Given the description of an element on the screen output the (x, y) to click on. 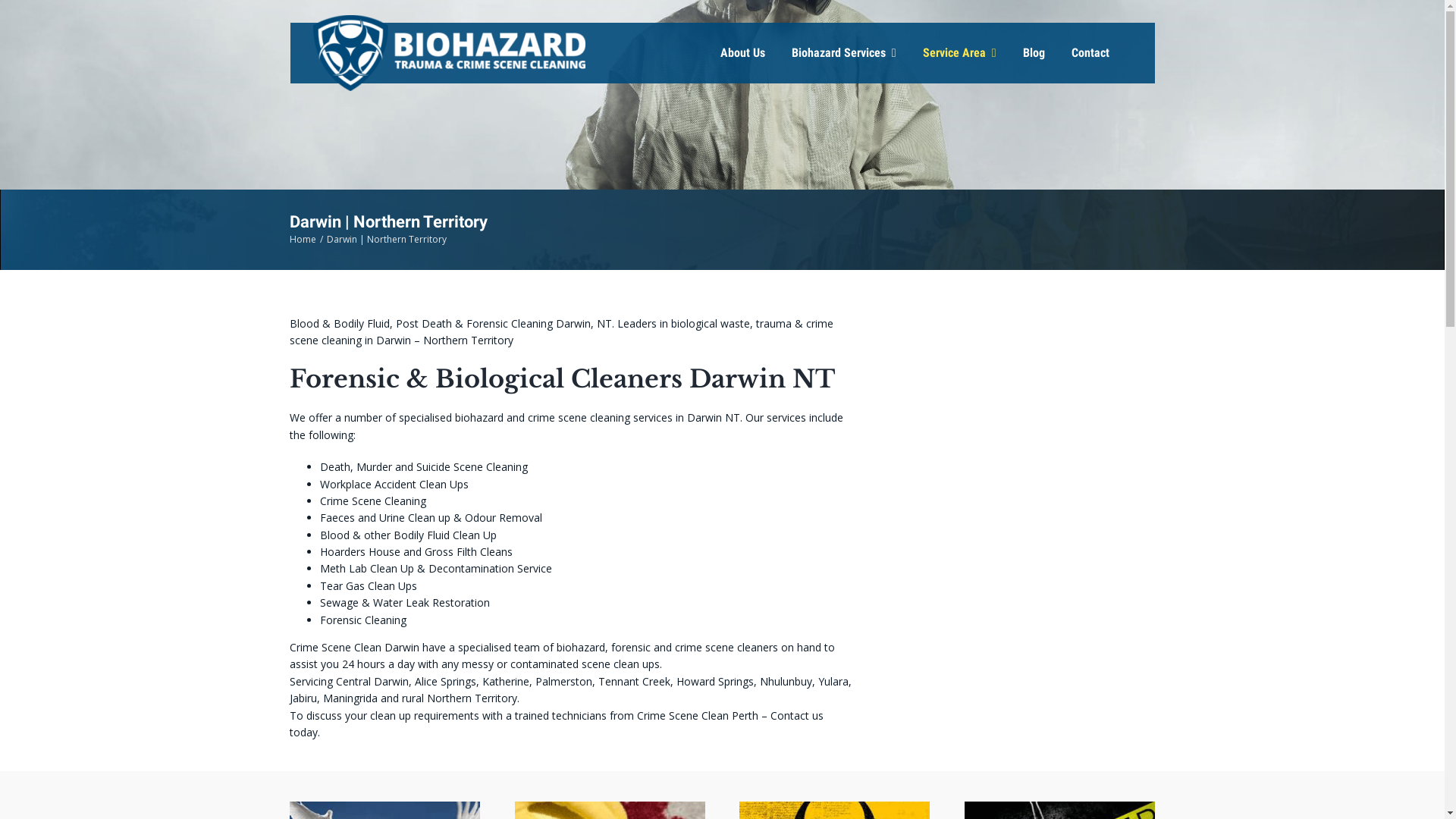
Contact Element type: text (1076, 52)
Home Element type: text (302, 238)
Blog Element type: text (1020, 52)
Service Area Element type: text (946, 52)
Biohazard Services Element type: text (830, 52)
About Us Element type: text (729, 52)
